Given the description of an element on the screen output the (x, y) to click on. 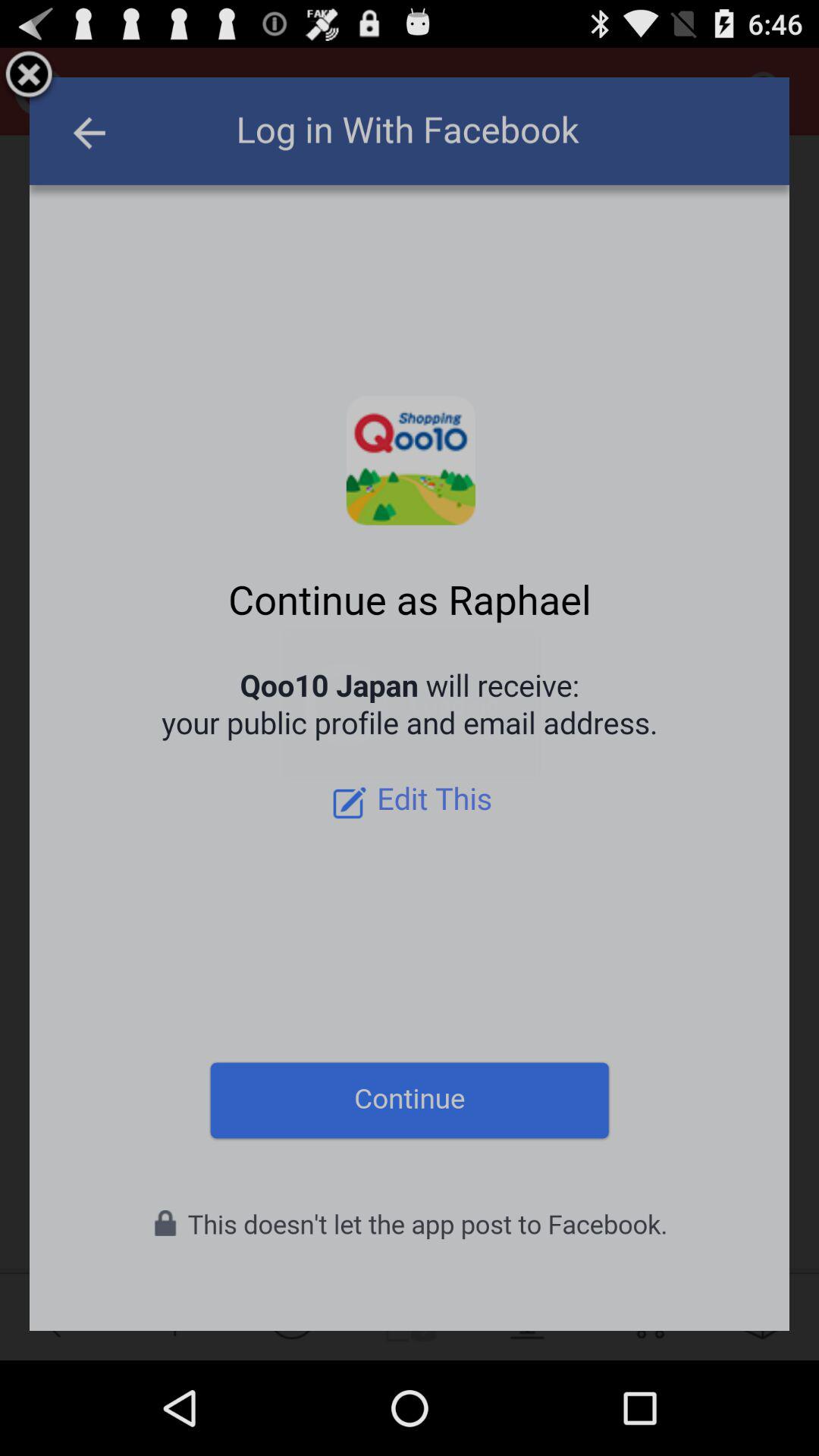
choose the icon at the top left corner (29, 76)
